Given the description of an element on the screen output the (x, y) to click on. 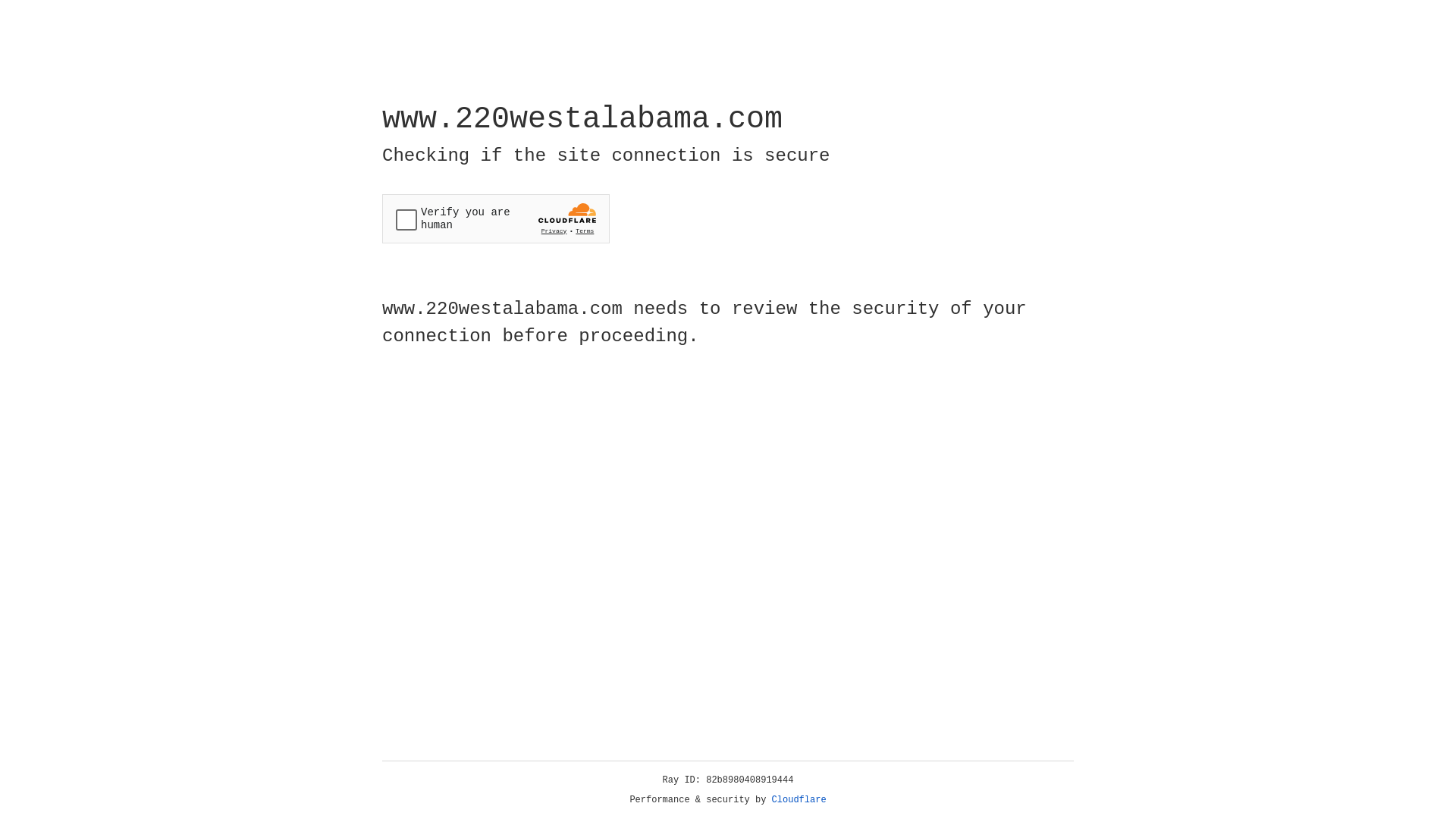
Widget containing a Cloudflare security challenge Element type: hover (495, 218)
Cloudflare Element type: text (798, 799)
